Given the description of an element on the screen output the (x, y) to click on. 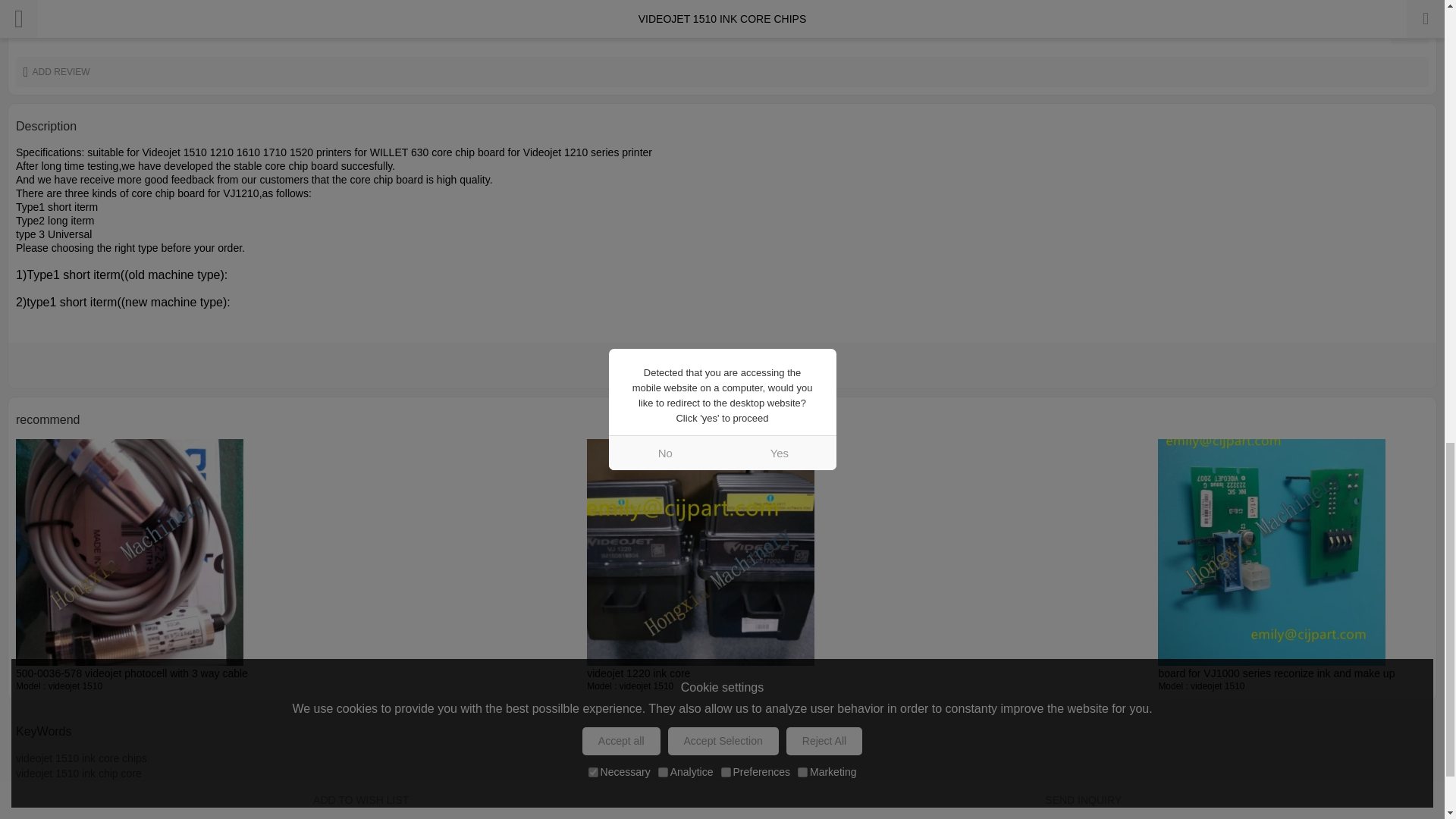
Review (1409, 29)
Add review (722, 71)
ADD REVIEW (722, 71)
